Given the description of an element on the screen output the (x, y) to click on. 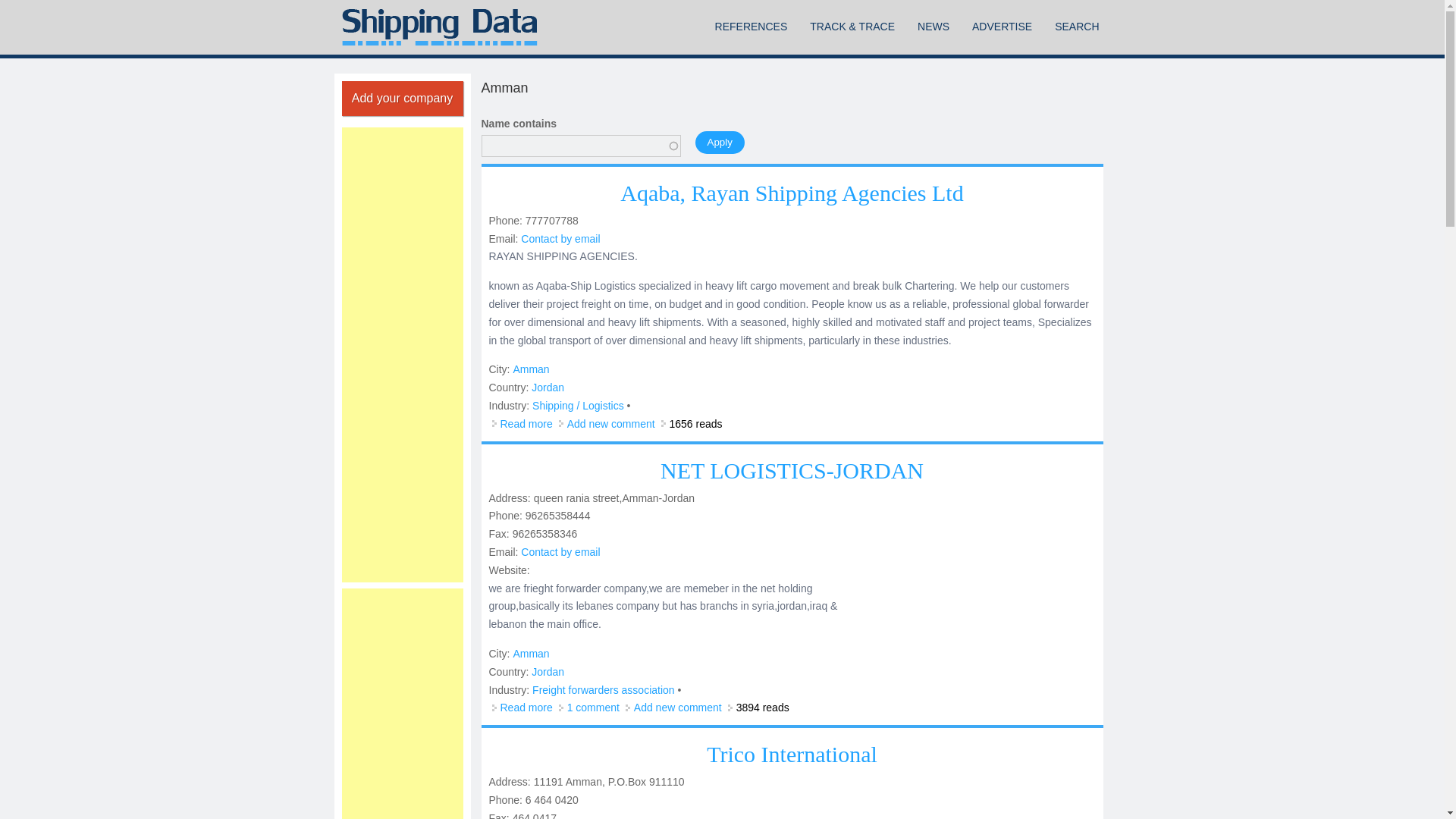
NEWS (932, 26)
ADVERTISE (1001, 26)
Apply (719, 142)
Home (438, 26)
REFERENCES (751, 26)
